Given the description of an element on the screen output the (x, y) to click on. 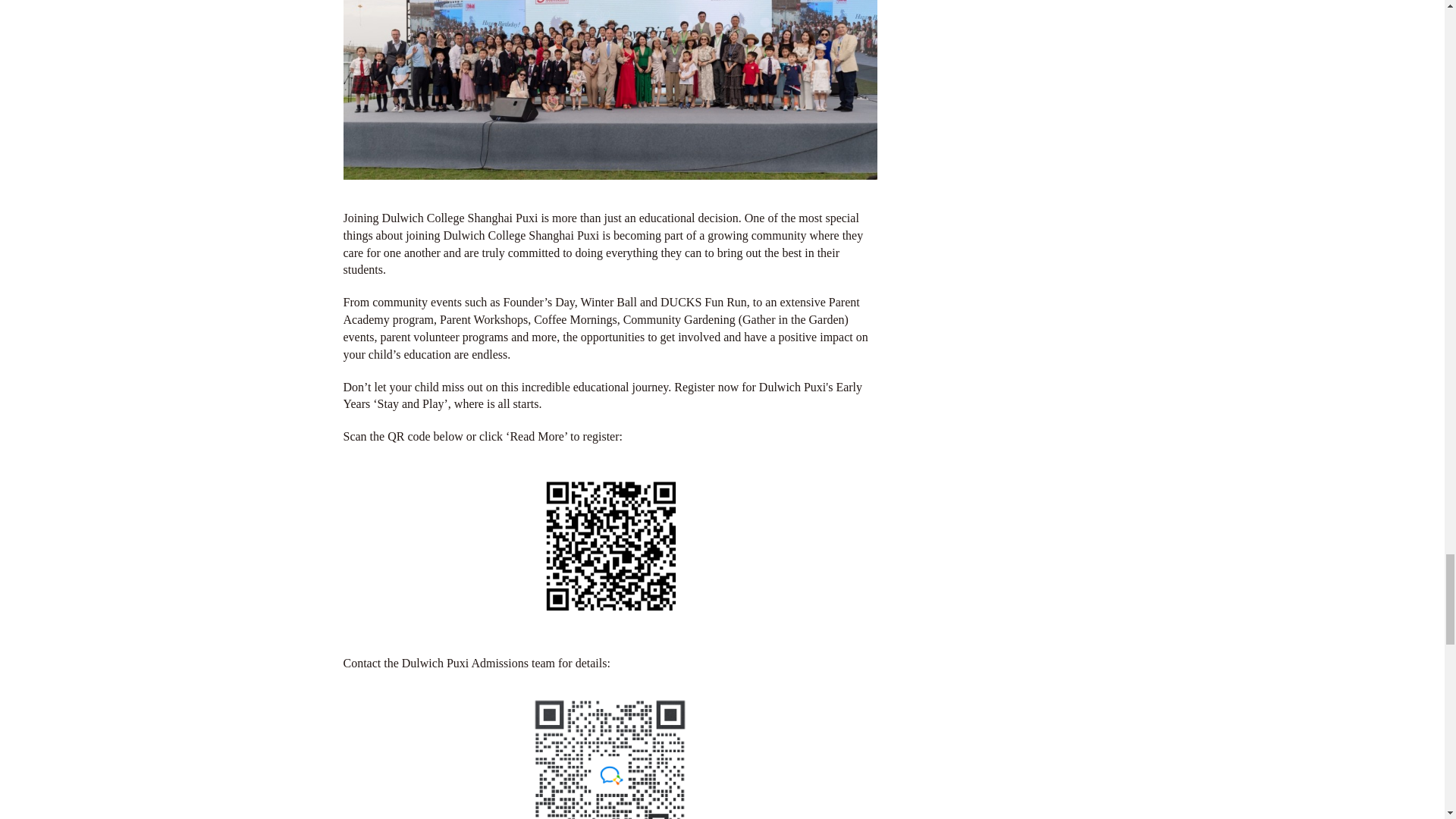
Admissions.png (609, 757)
Community.jpeg (609, 89)
QR.png (609, 546)
